Given the description of an element on the screen output the (x, y) to click on. 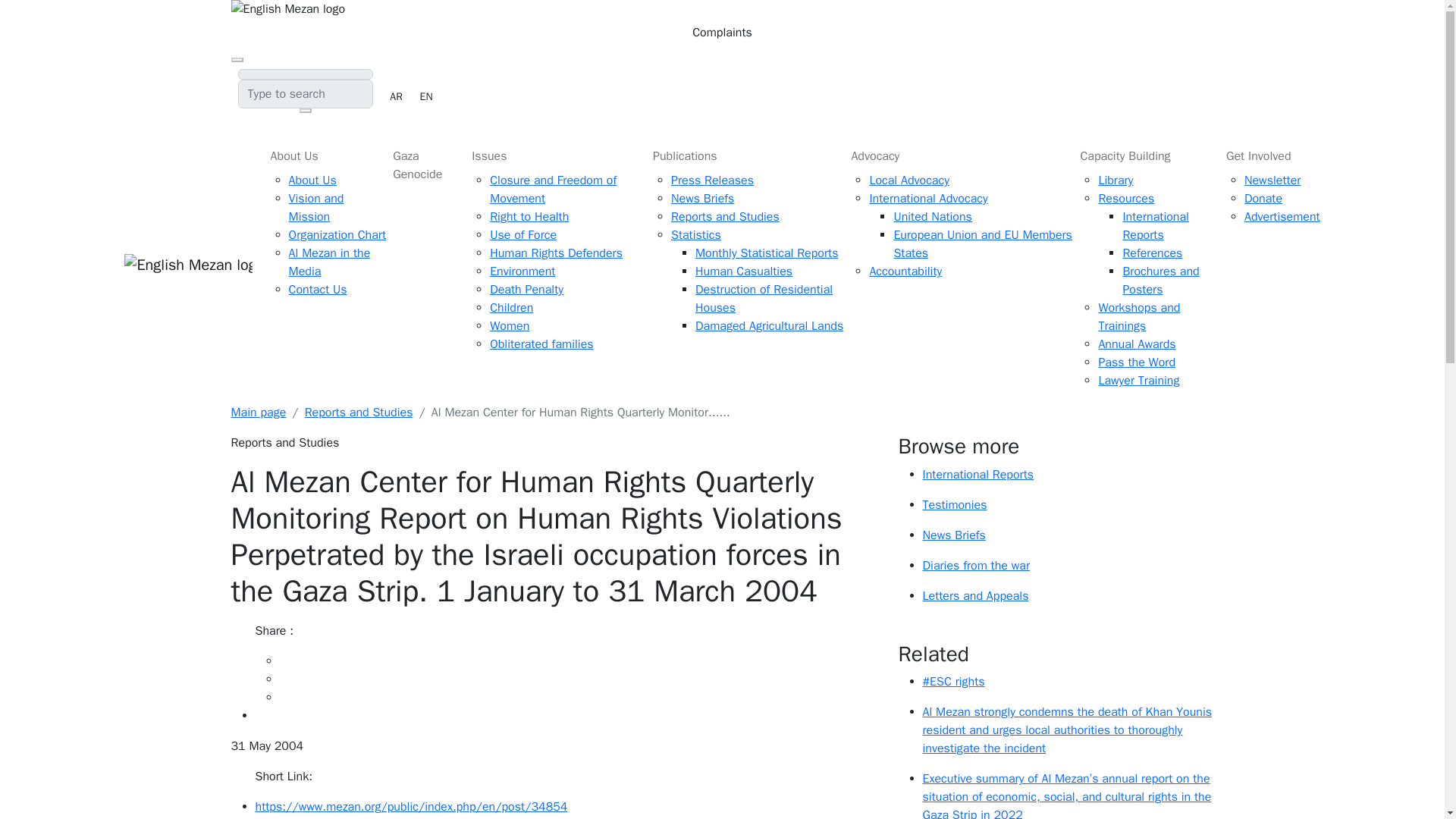
Organization Chart (336, 232)
Publications (745, 155)
Women (509, 325)
Human Rights Defenders (556, 252)
Gaza Genocide (426, 163)
Short Link (566, 806)
Destruction of Residential Houses (763, 298)
Press Releases (712, 180)
AR (395, 96)
About Us (312, 177)
EN (426, 96)
Complaints (721, 32)
Reports and Studies (724, 216)
About Us (325, 153)
Children (510, 307)
